Given the description of an element on the screen output the (x, y) to click on. 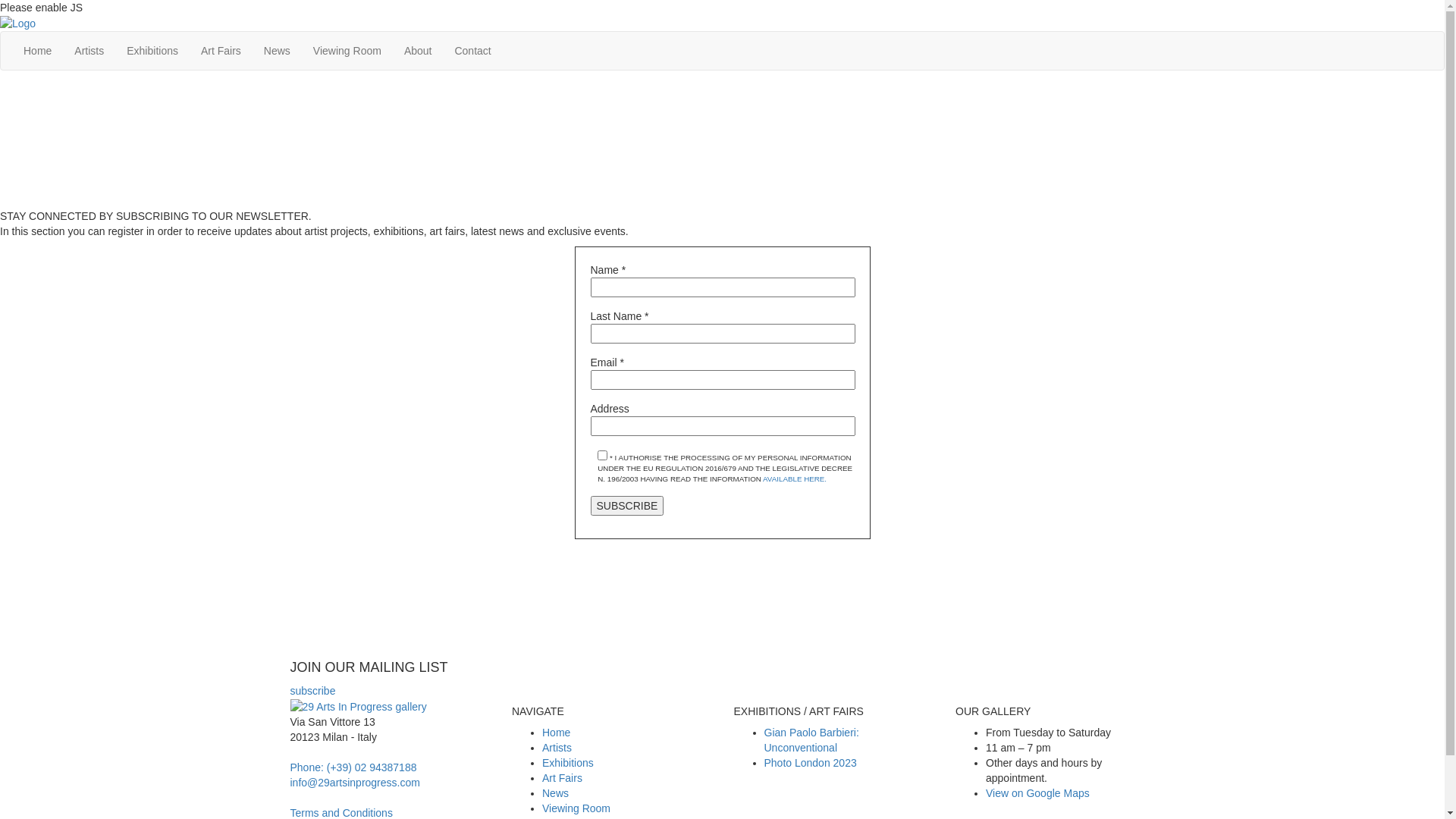
Viewing Room Element type: text (346, 50)
About Element type: text (417, 50)
subscribe Element type: text (312, 690)
Photo London 2023 Element type: text (810, 762)
SUBSCRIBE Element type: text (626, 505)
News Element type: text (276, 50)
Artists Element type: text (88, 50)
Contact Element type: text (472, 50)
News Element type: text (555, 793)
Artists Element type: text (556, 747)
Gian Paolo Barbieri: Unconventional Element type: text (811, 739)
Exhibitions Element type: text (152, 50)
Art Fairs Element type: text (220, 50)
info@29artsinprogress.com Element type: text (354, 782)
View on Google Maps Element type: text (1037, 793)
Home Element type: text (37, 50)
AVAILABLE HERE. Element type: text (794, 478)
Viewing Room Element type: text (576, 808)
Exhibitions Element type: text (567, 762)
Phone: (+39) 02 94387188 Element type: text (352, 767)
Art Fairs Element type: text (562, 777)
Home Element type: text (556, 732)
